Given the description of an element on the screen output the (x, y) to click on. 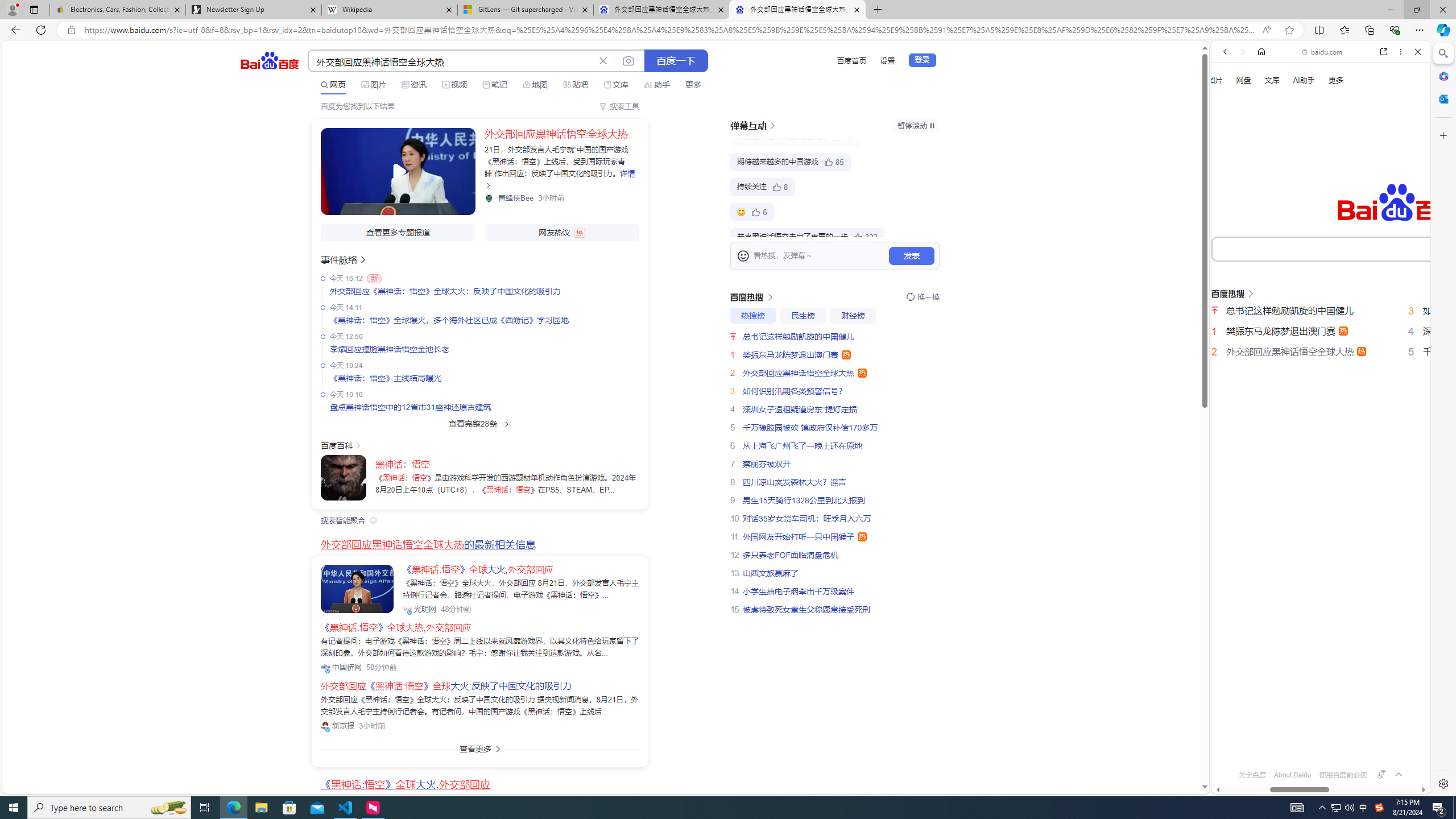
Microsoft 365 (1442, 76)
baidu.com (1323, 51)
More options (1401, 51)
